Given the description of an element on the screen output the (x, y) to click on. 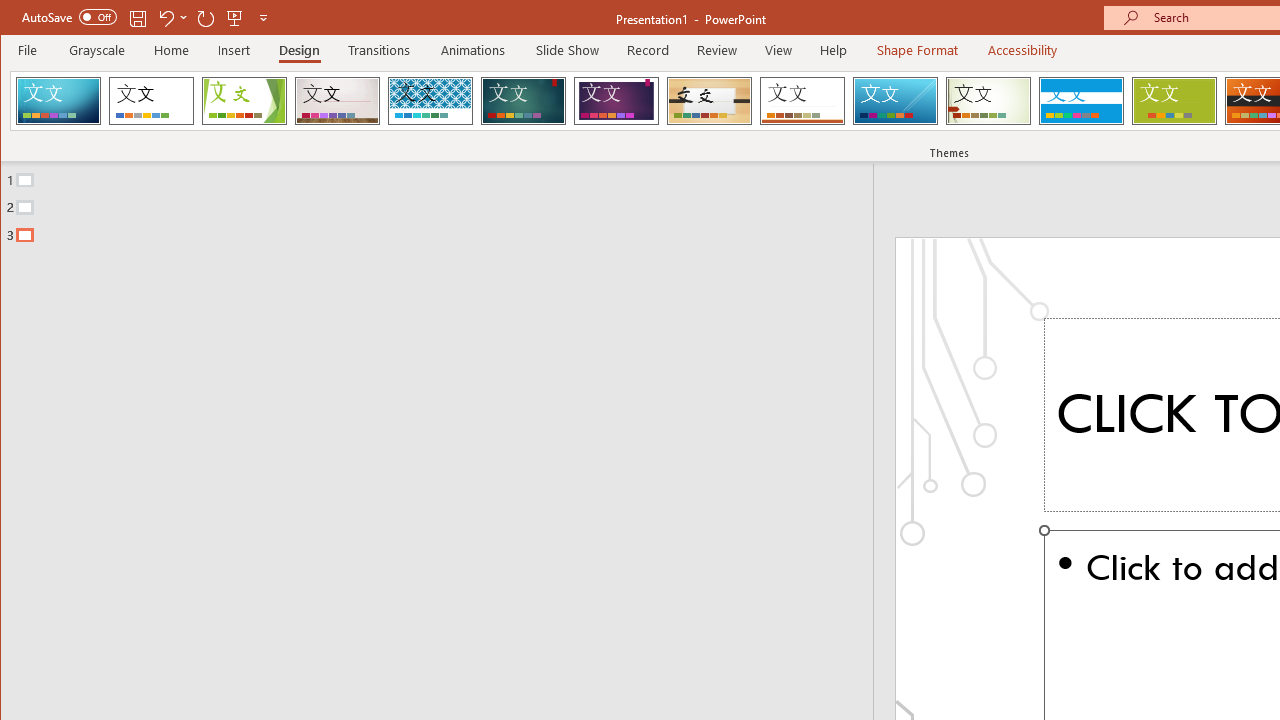
Dividend (57, 100)
Facet (244, 100)
AutoSave (68, 16)
Organic (709, 100)
Banded (1081, 100)
Shape Format (916, 50)
Accessibility (1023, 50)
Office Theme (151, 100)
Quick Access Toolbar (146, 17)
File Tab (28, 49)
Customize Quick Access Toolbar (263, 17)
Review (717, 50)
Insert (233, 50)
System (18, 18)
Outline (445, 203)
